Given the description of an element on the screen output the (x, y) to click on. 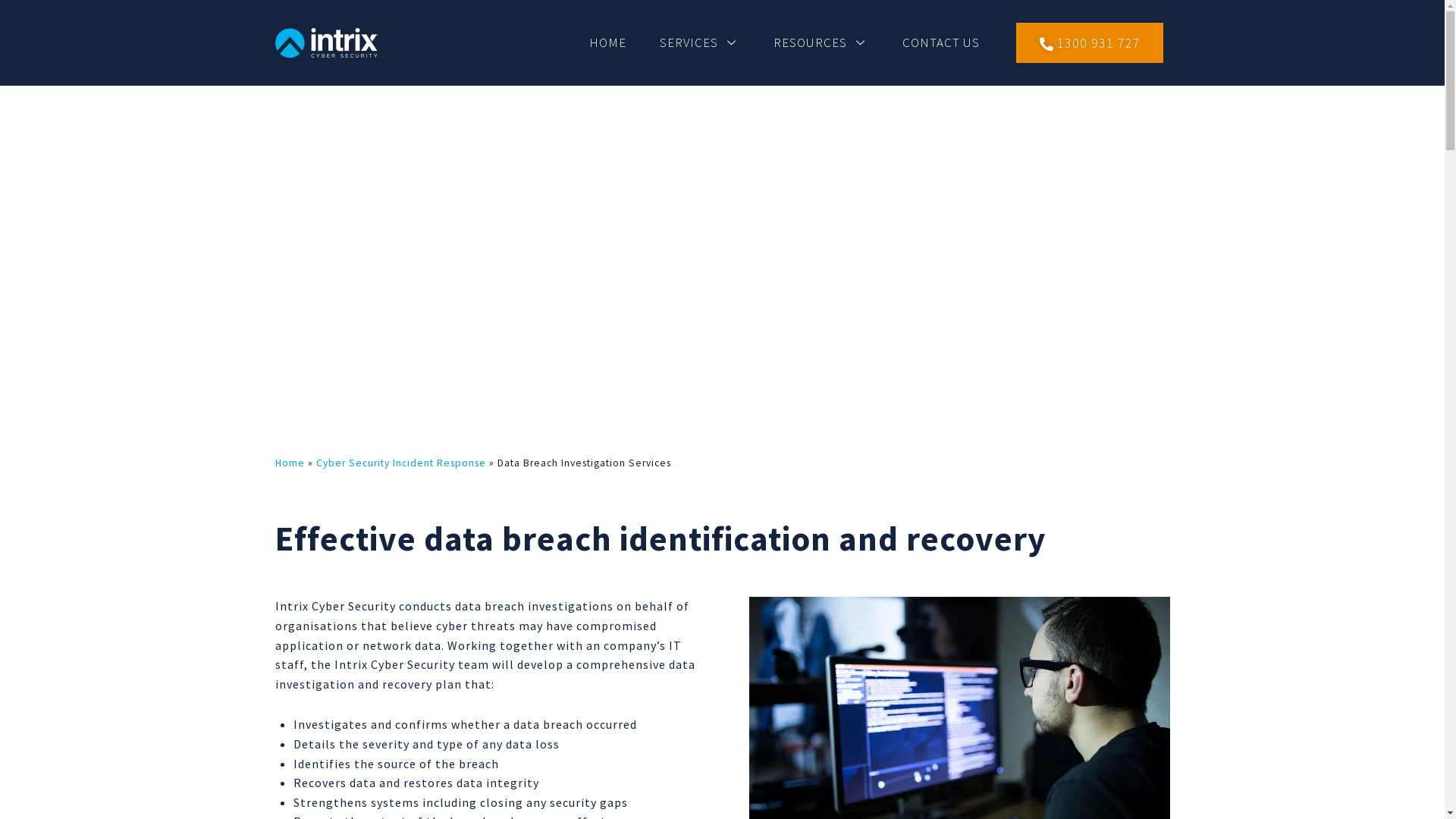
HOME Element type: text (607, 42)
SERVICES Element type: text (699, 42)
Home Element type: text (289, 462)
CONTACT US Element type: text (940, 42)
1300 931 727 Element type: text (1089, 42)
Cyber Security Incident Response Element type: text (400, 462)
RESOURCES Element type: text (820, 42)
Intrix-logo-onDarkBlue_RGB-small.png Element type: hover (325, 42)
